Given the description of an element on the screen output the (x, y) to click on. 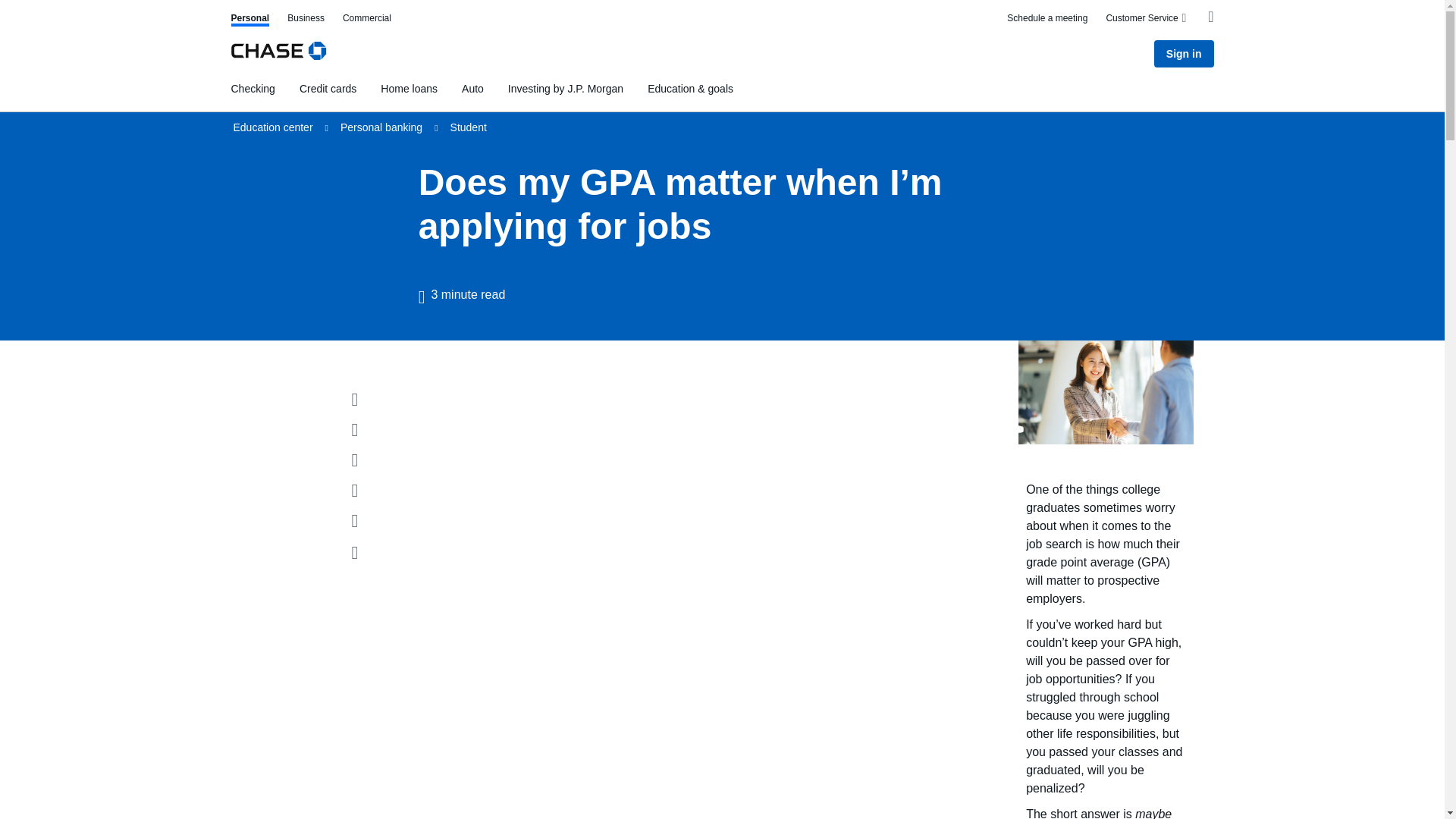
Sign in (1184, 53)
Checking (252, 88)
Customer Service (1147, 18)
Business (249, 19)
Auto (305, 19)
Investing by J.P. Morgan (472, 88)
Home loans (565, 88)
Commercial (409, 88)
Schedule a meeting (366, 19)
Chase logo, links to Chase home (1047, 19)
Credit cards (278, 53)
